Given the description of an element on the screen output the (x, y) to click on. 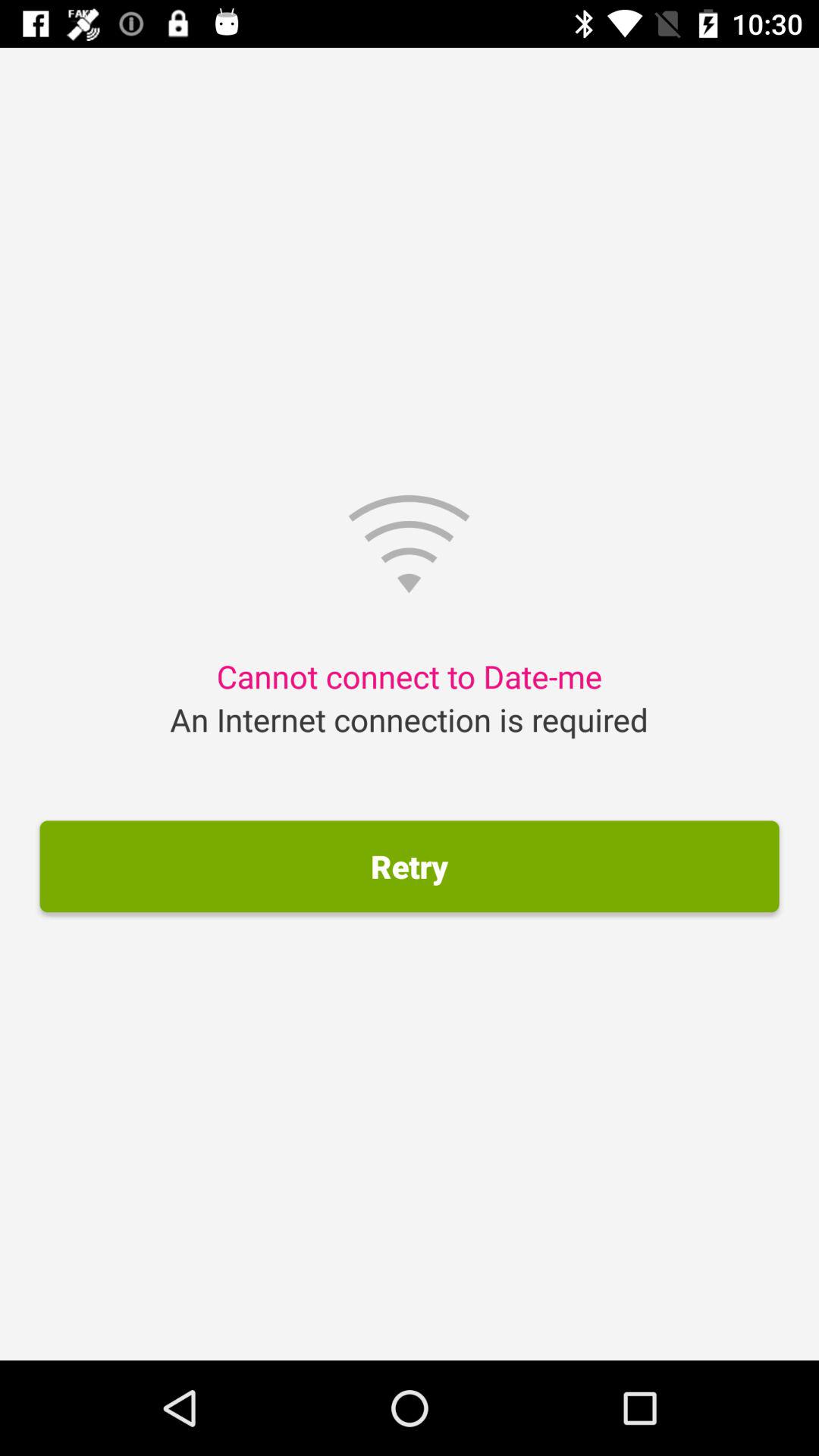
click the retry item (409, 866)
